Given the description of an element on the screen output the (x, y) to click on. 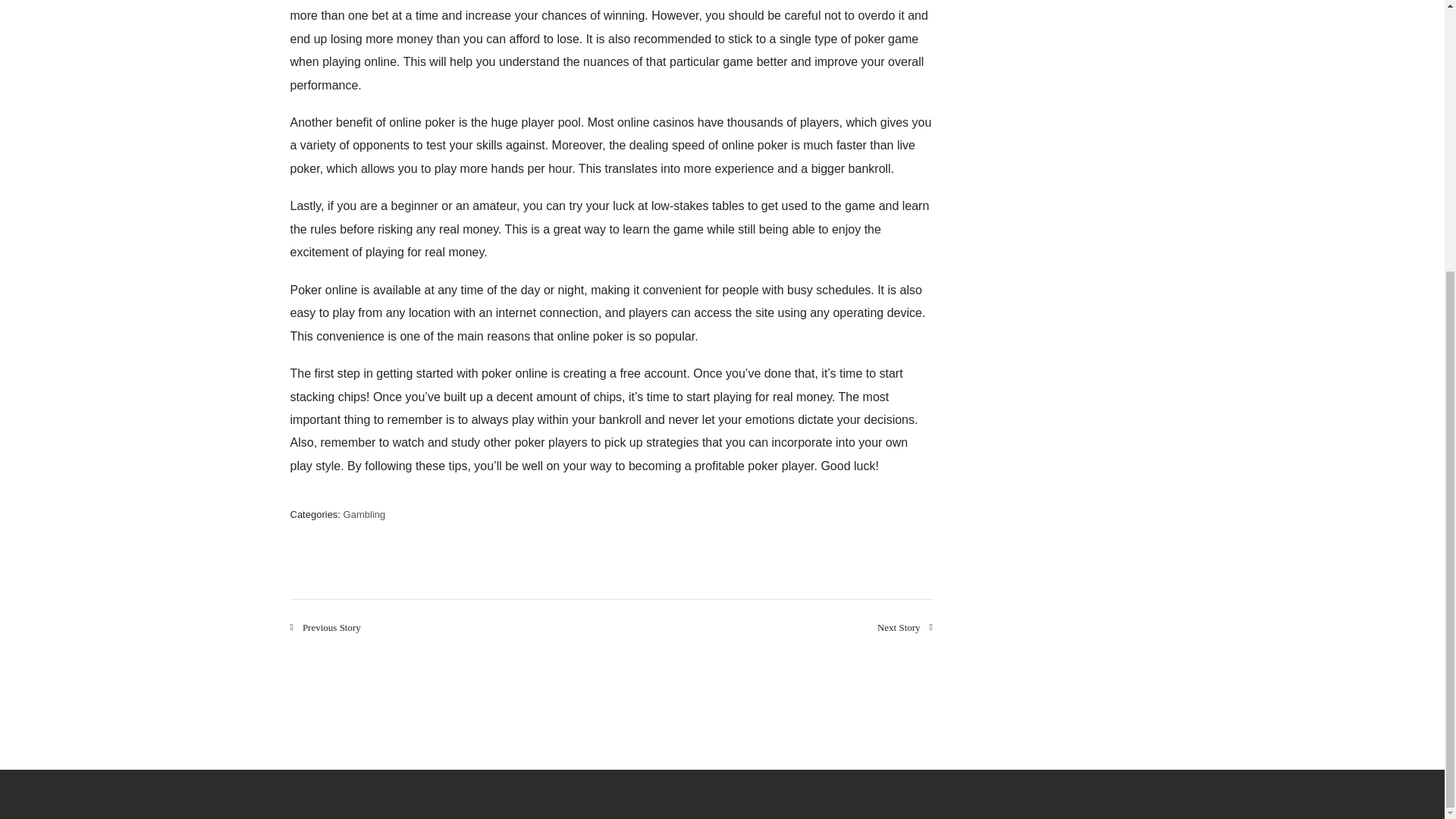
Gambling (364, 514)
Next Story (905, 627)
Previous Story (324, 627)
